Given the description of an element on the screen output the (x, y) to click on. 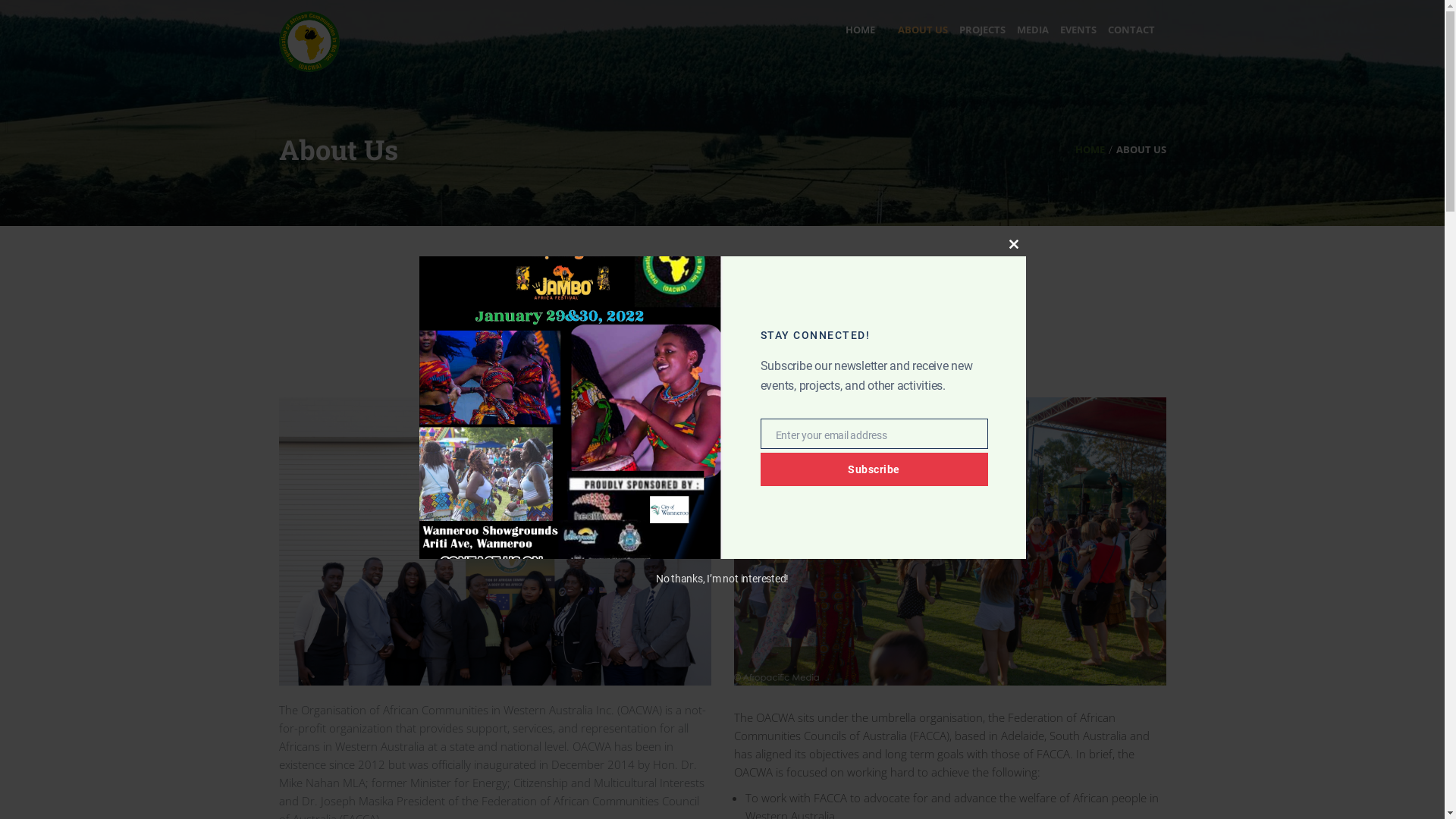
Close this module Element type: text (1013, 244)
PROJECTS Element type: text (976, 29)
EVENTS Element type: text (1071, 29)
MEDIA Element type: text (1026, 29)
HOME Element type: text (1089, 149)
ABOUT US Element type: text (916, 29)
Subscribe Element type: text (873, 469)
Volunteer Today Element type: text (722, 663)
HOME Element type: text (860, 29)
CONTACT Element type: text (1131, 29)
